Given the description of an element on the screen output the (x, y) to click on. 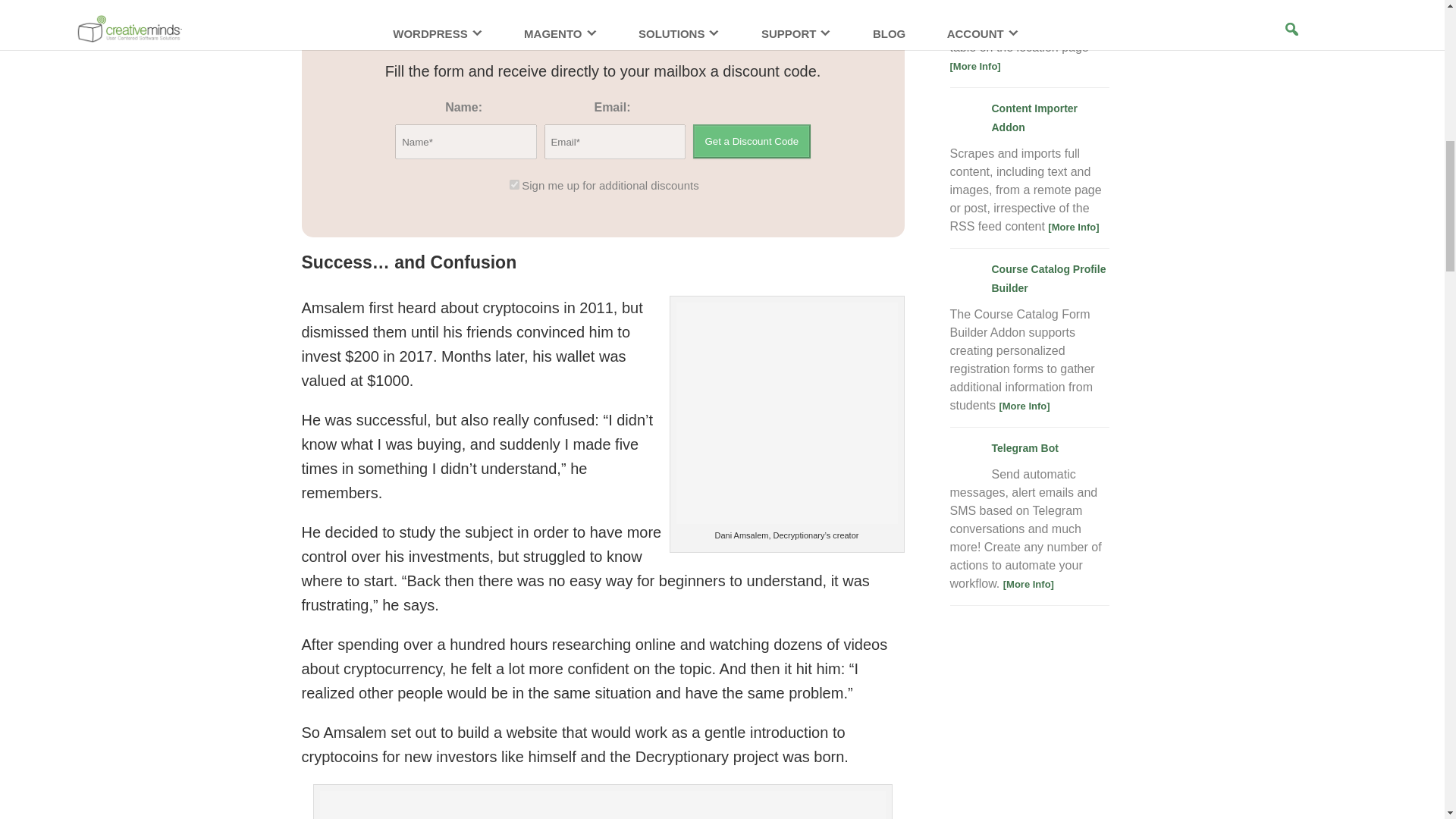
Get a Discount Code (751, 141)
Get a Discount Code (751, 141)
Locations Business Hours (974, 66)
1 (514, 184)
WordPress Tooltip Glossary Plugin (515, 19)
Content Importer Addon (1034, 117)
Content Importer Addon (1073, 226)
